Given the description of an element on the screen output the (x, y) to click on. 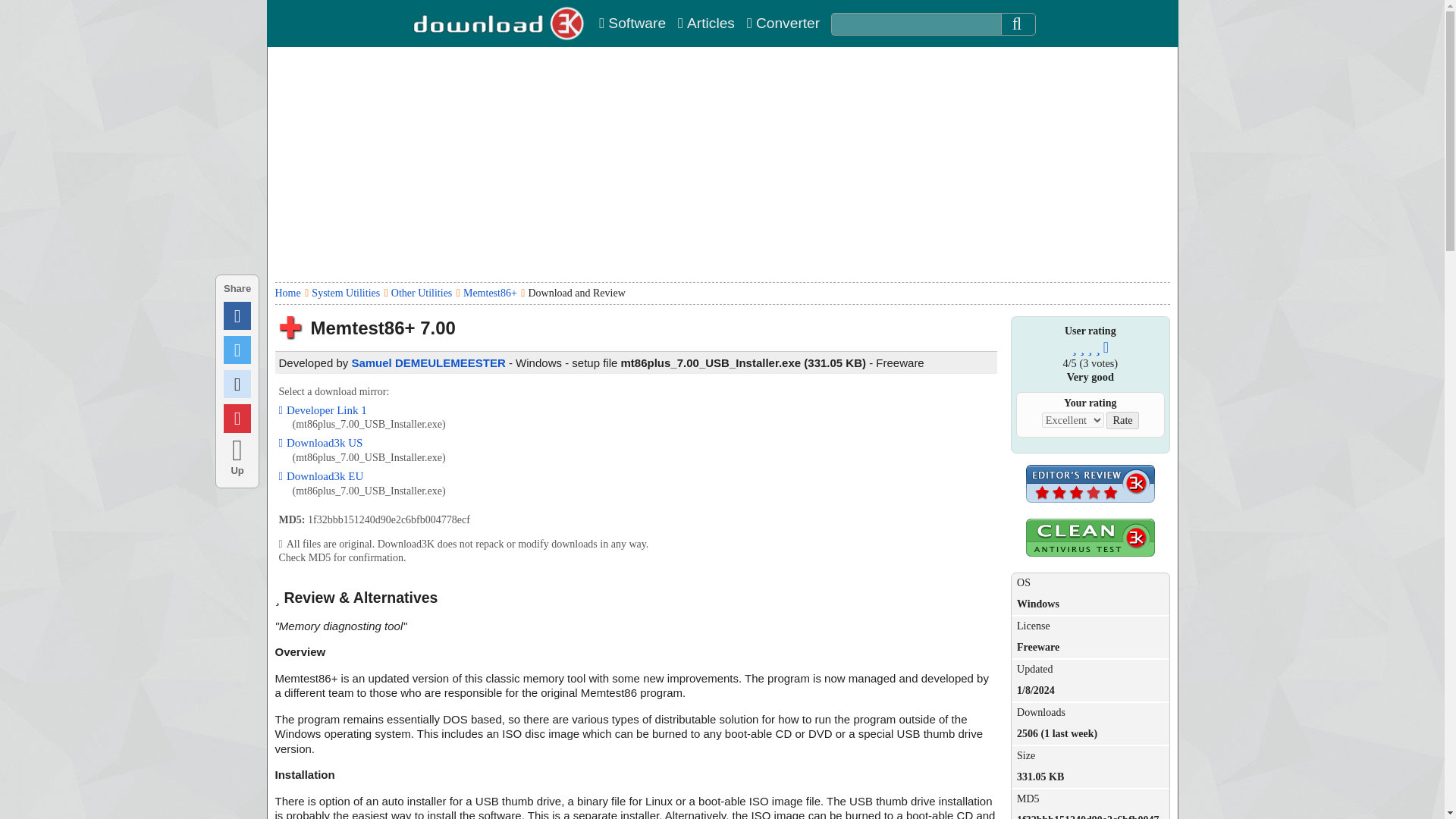
Rate (1122, 420)
Search (1018, 24)
Samuel DEMEULEMEESTER (427, 362)
Software (632, 23)
Other Utilities (421, 292)
Search for something ... (916, 24)
Homepage (500, 23)
Convert Files Online (783, 23)
System Utilities (345, 292)
Articles (705, 23)
Advertisement (840, 490)
Download3k EU (321, 476)
Developer Link 1 (322, 410)
Browse Software (632, 23)
Converter (783, 23)
